Given the description of an element on the screen output the (x, y) to click on. 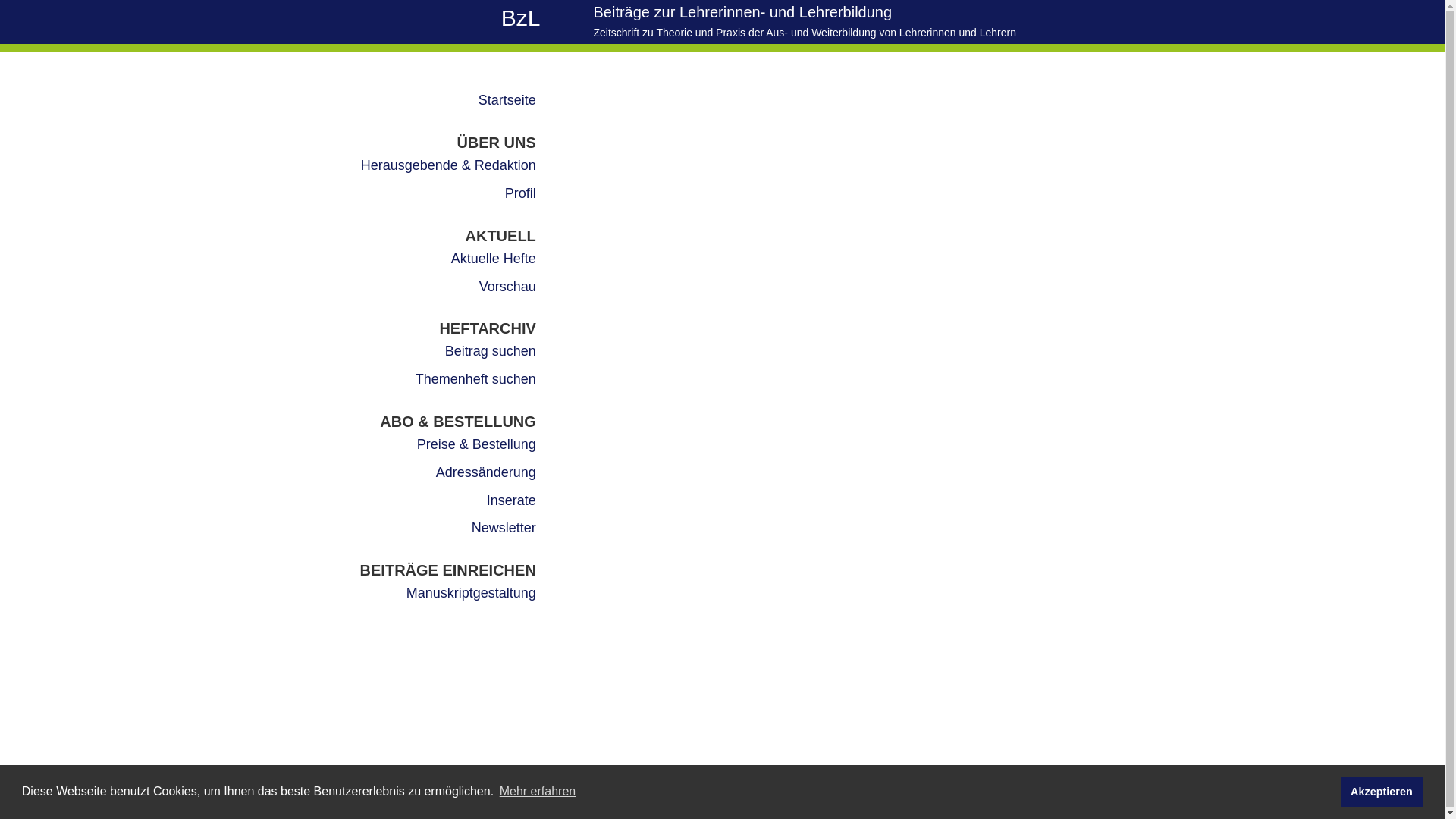
Preise & Bestellung Element type: text (476, 443)
Vorschau Element type: text (507, 286)
Themenheft suchen Element type: text (475, 378)
Herausgebende & Redaktion Element type: text (448, 164)
Akzeptieren Element type: text (1381, 791)
Impressum Element type: text (1074, 796)
Profil Element type: text (520, 192)
Newsletter Element type: text (503, 527)
Inserate Element type: text (511, 500)
Mehr erfahren Element type: text (537, 791)
Newsletter Element type: text (1129, 796)
Manuskriptgestaltung Element type: text (471, 592)
Kontakt Element type: text (1025, 796)
Beitrag suchen Element type: text (490, 350)
Startseite Element type: text (507, 99)
Aktuelle Hefte Element type: text (493, 258)
